Given the description of an element on the screen output the (x, y) to click on. 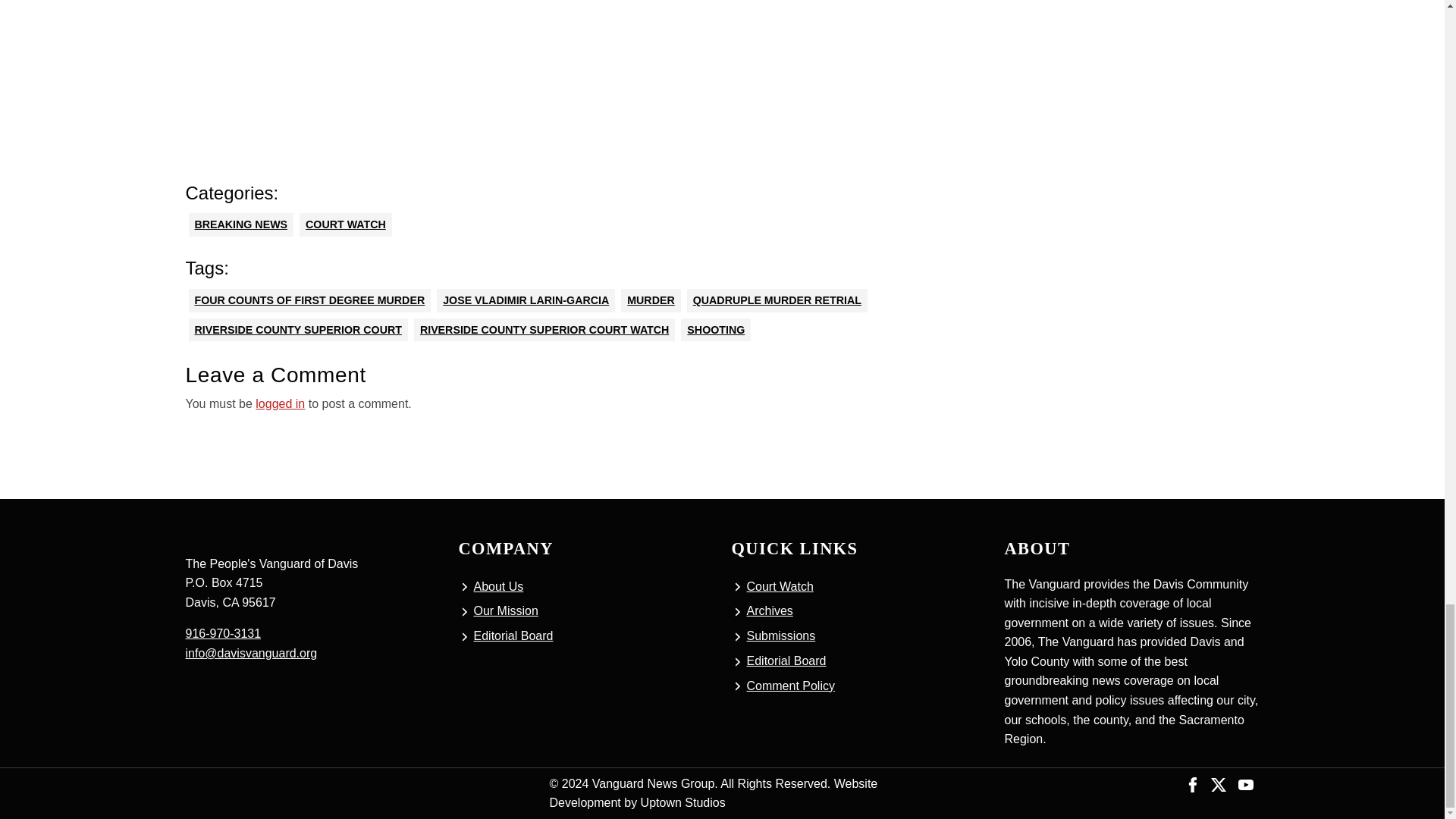
Facebook (1192, 783)
YouTube (1245, 783)
Twitter (1218, 783)
